Given the description of an element on the screen output the (x, y) to click on. 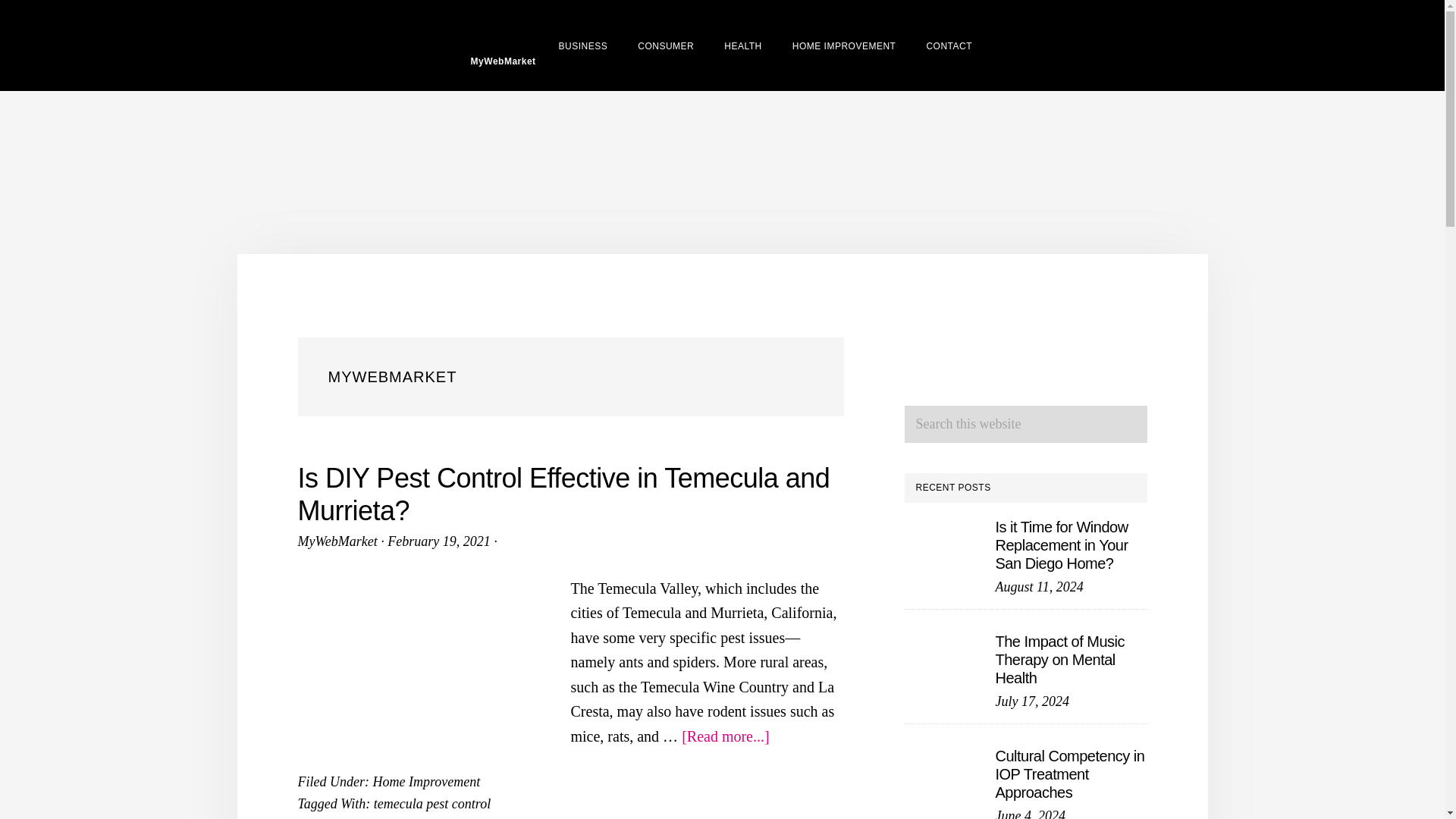
CONSUMER (666, 44)
  MyWebMarket (500, 45)
temecula pest control (432, 803)
MyWebMarket (337, 540)
Is DIY Pest Control Effective in Temecula and Murrieta? (563, 494)
Home Improvement (426, 781)
BUSINESS (583, 44)
HEALTH (742, 44)
HOME IMPROVEMENT (844, 44)
